Given the description of an element on the screen output the (x, y) to click on. 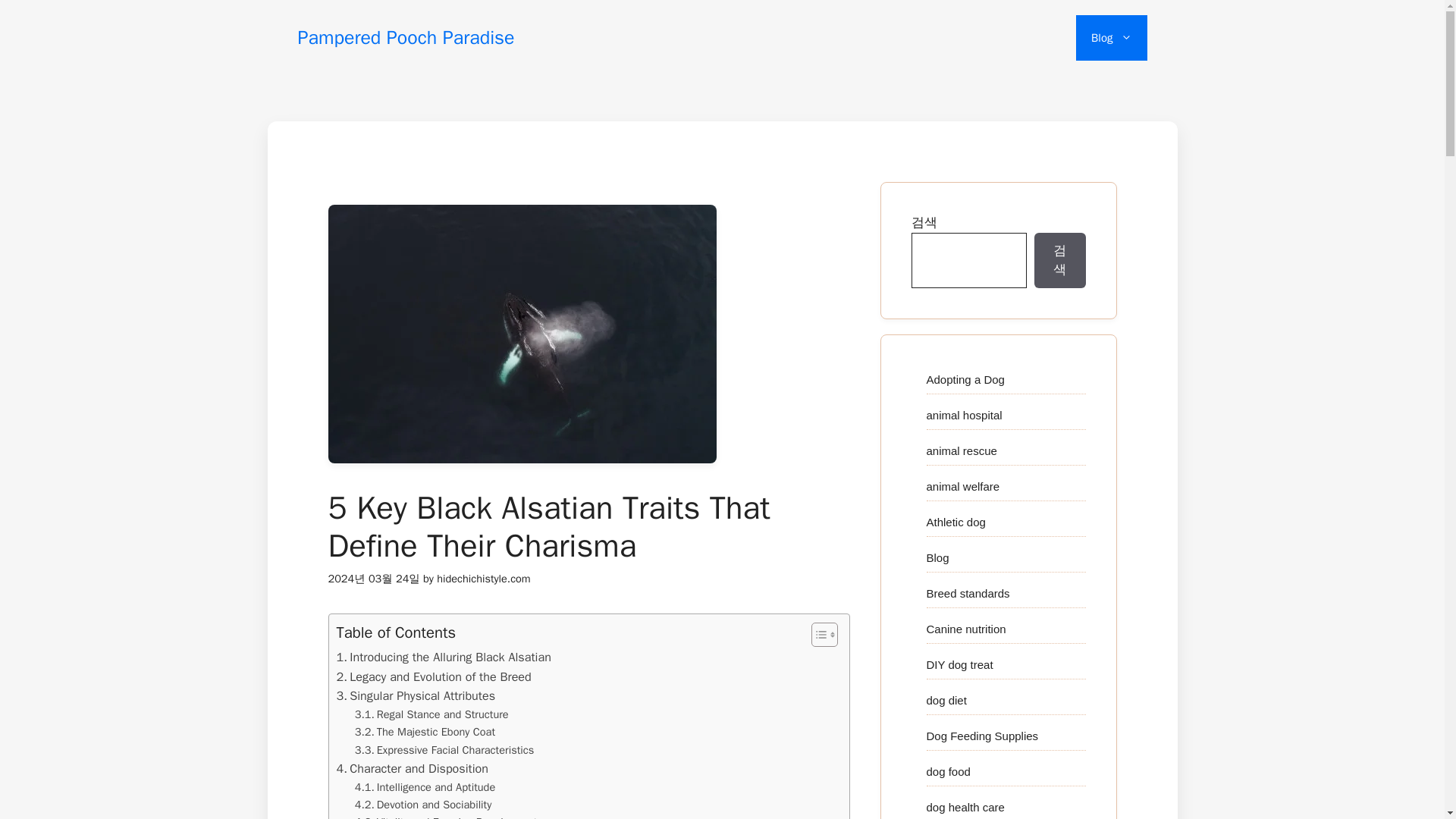
Legacy and Evolution of the Breed (433, 677)
Blog (1111, 37)
Vitality and Exercise Requirements (449, 816)
The Majestic Ebony Coat (425, 732)
Legacy and Evolution of the Breed (433, 677)
Intelligence and Aptitude (425, 787)
Regal Stance and Structure (431, 714)
Regal Stance and Structure (431, 714)
Expressive Facial Characteristics (444, 750)
Devotion and Sociability (423, 805)
